Given the description of an element on the screen output the (x, y) to click on. 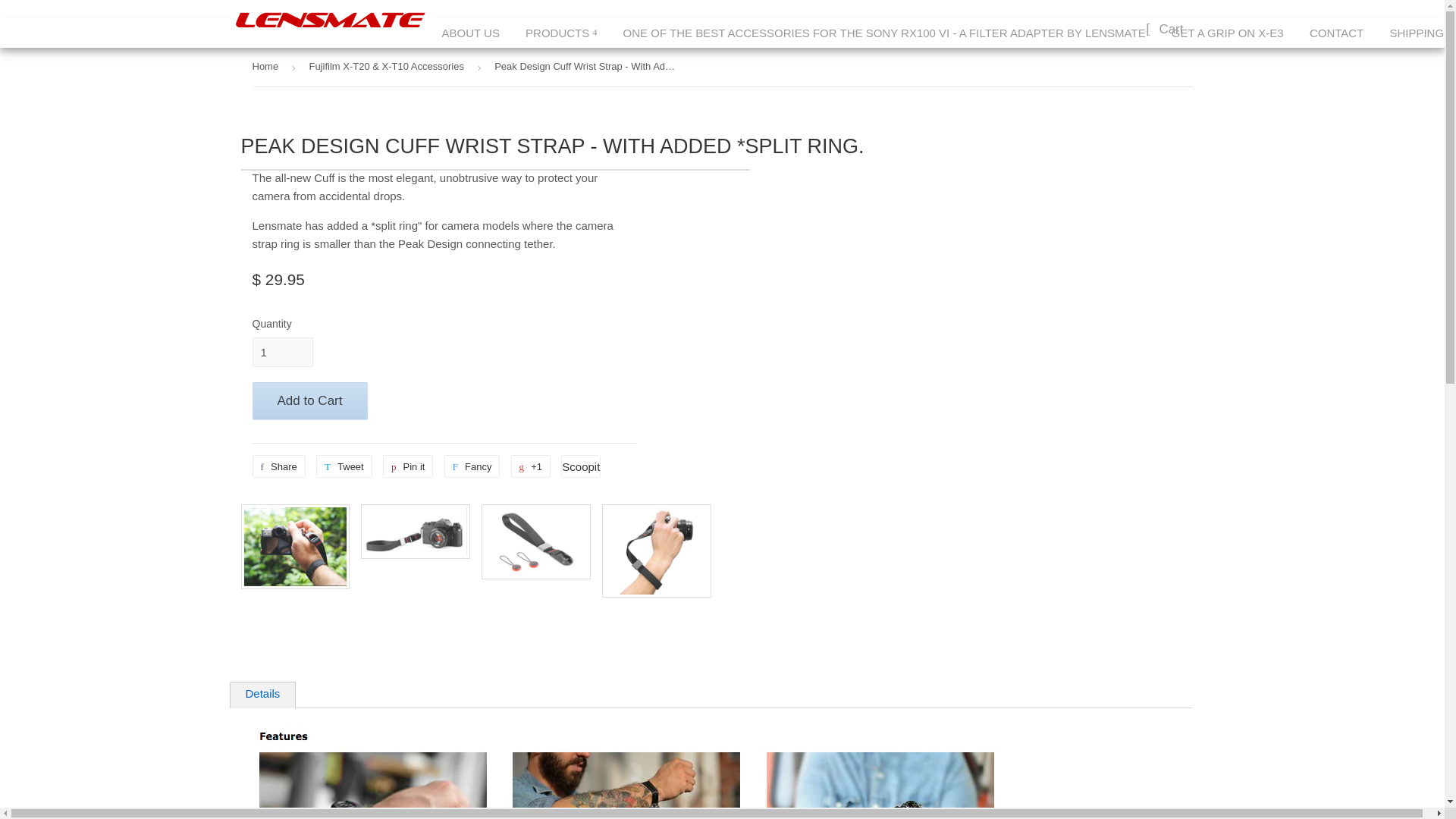
PRODUCTS (560, 32)
Cart (1164, 32)
1 (282, 351)
GET A GRIP ON X-E3 (1227, 32)
CONTACT (1336, 32)
Add to Cart (308, 401)
ABOUT US (470, 32)
